Given the description of an element on the screen output the (x, y) to click on. 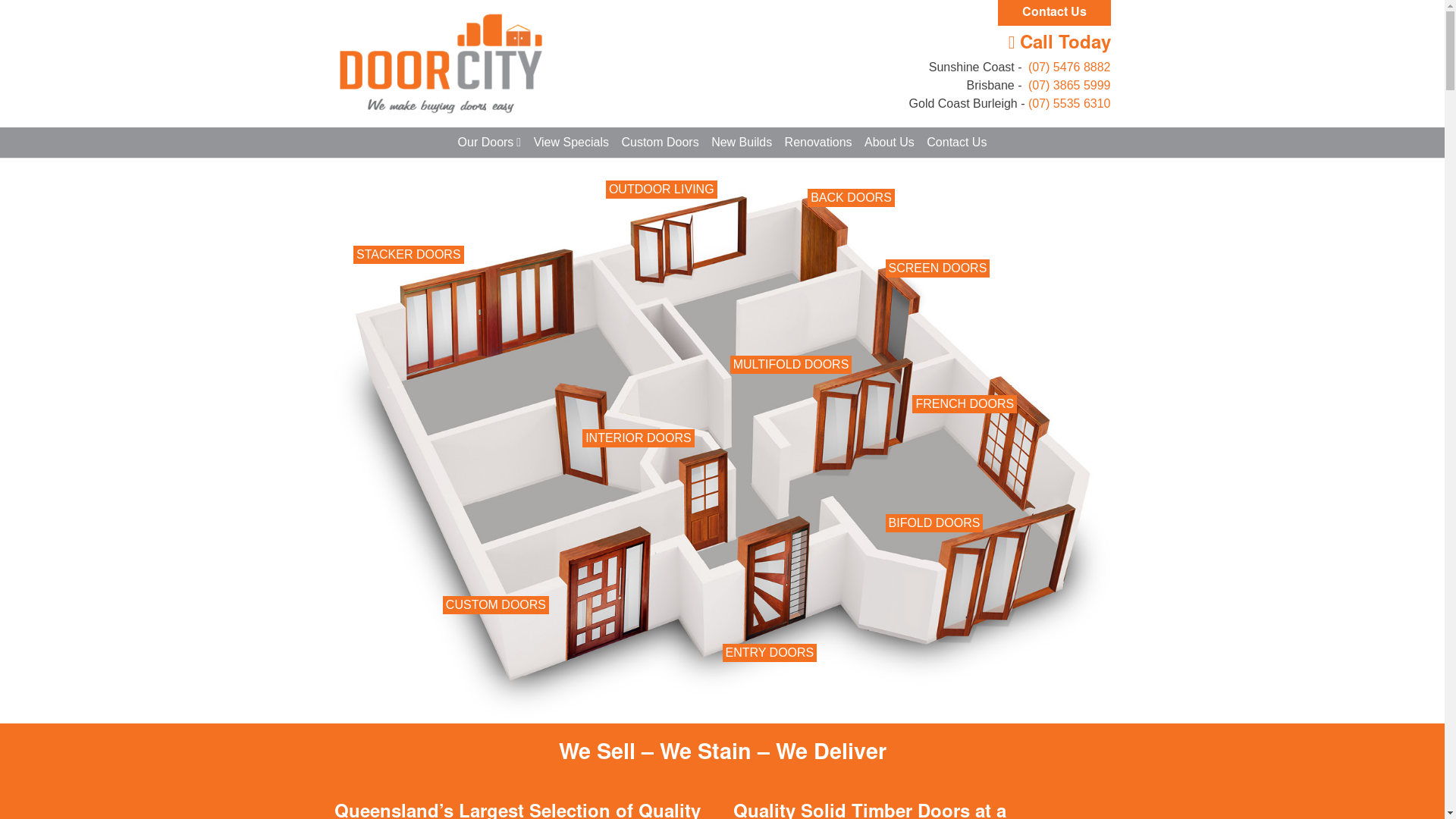
MULTIFOLD DOORS Element type: text (791, 364)
CUSTOM DOORS Element type: text (495, 605)
Renovations Element type: text (818, 142)
SCREEN DOORS Element type: text (937, 268)
(07) 5476 8882 Element type: text (1067, 66)
Contact Us Element type: text (956, 142)
STACKER DOORS Element type: text (408, 254)
ENTRY DOORS Element type: text (768, 652)
New Builds Element type: text (741, 142)
BACK DOORS Element type: text (850, 197)
(07) 5535 6310 Element type: text (1069, 103)
About Us Element type: text (889, 142)
BIFOLD DOORS Element type: text (934, 523)
FRENCH DOORS Element type: text (964, 404)
(07) 3865 5999 Element type: text (1067, 84)
INTERIOR DOORS Element type: text (638, 438)
Contact Us Element type: text (1053, 12)
Custom Doors Element type: text (659, 142)
View Specials Element type: text (570, 142)
OUTDOOR LIVING Element type: text (661, 189)
Our Doors Element type: text (489, 142)
